Given the description of an element on the screen output the (x, y) to click on. 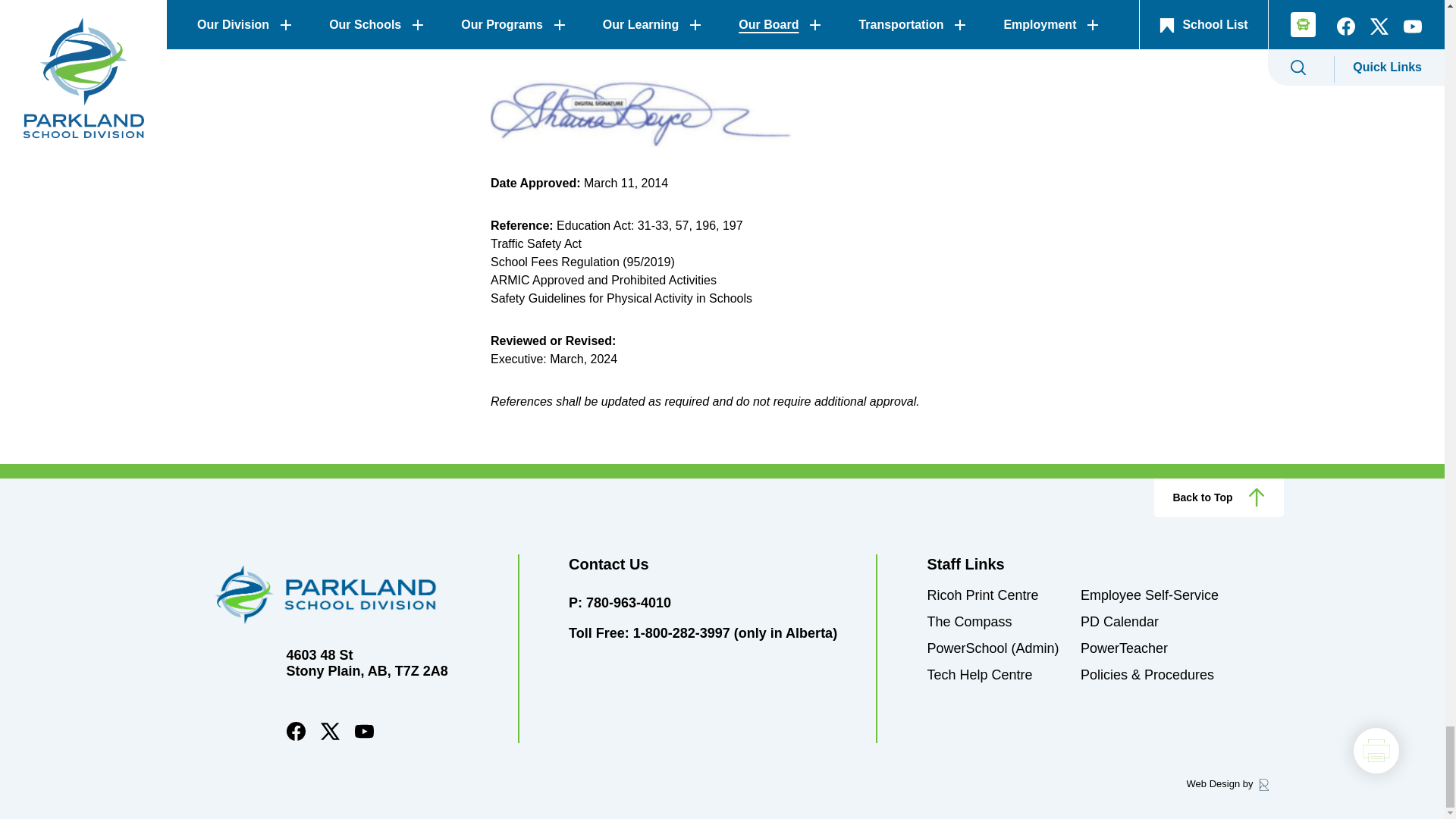
The Compass (968, 621)
Ricoh Print Centre (982, 595)
Employee Self-Service (1149, 595)
Youtube (364, 737)
Twitter (329, 737)
Parkland School Division (348, 595)
Facebook (296, 737)
